Given the description of an element on the screen output the (x, y) to click on. 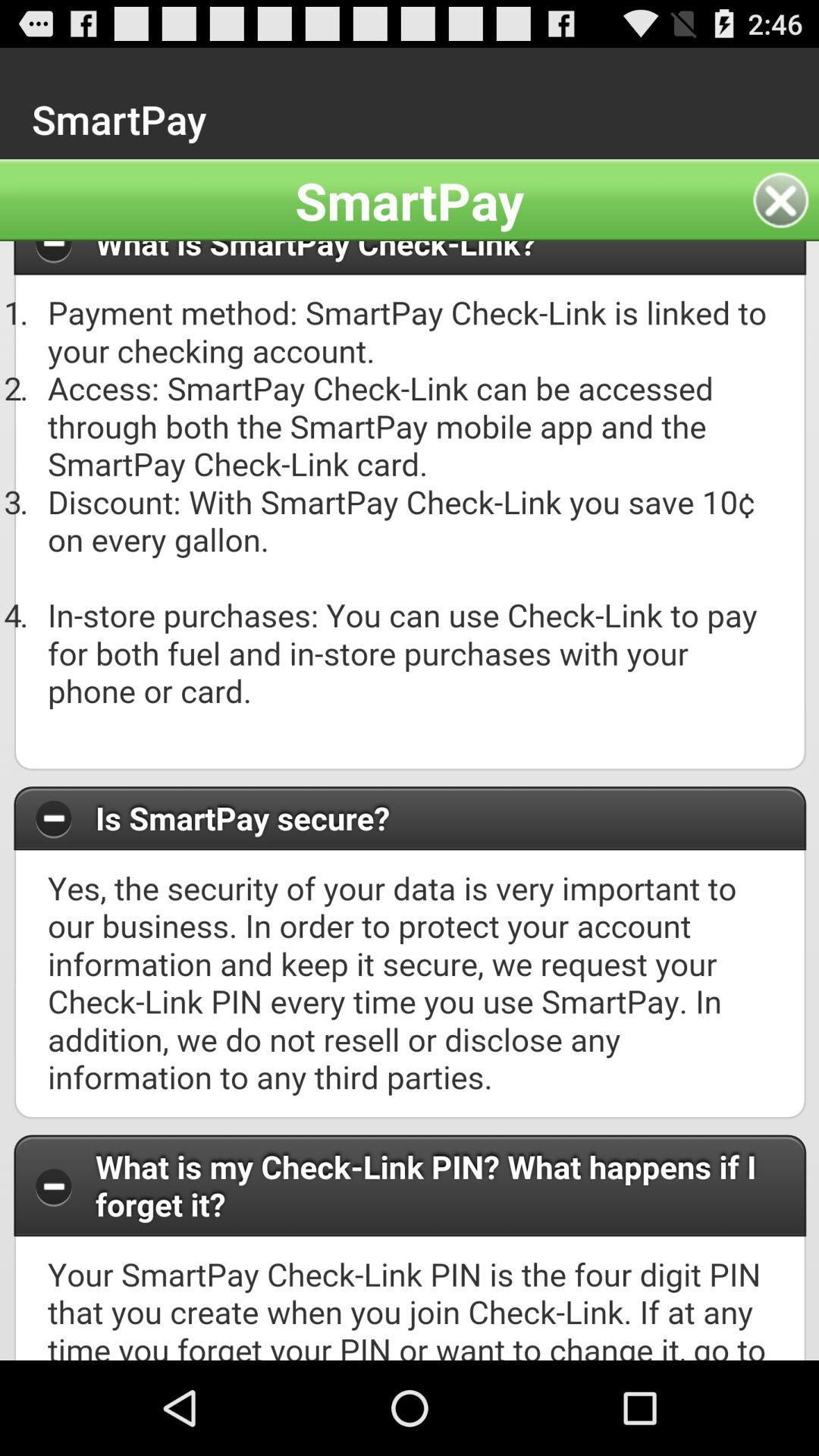
exit faq (786, 200)
